Given the description of an element on the screen output the (x, y) to click on. 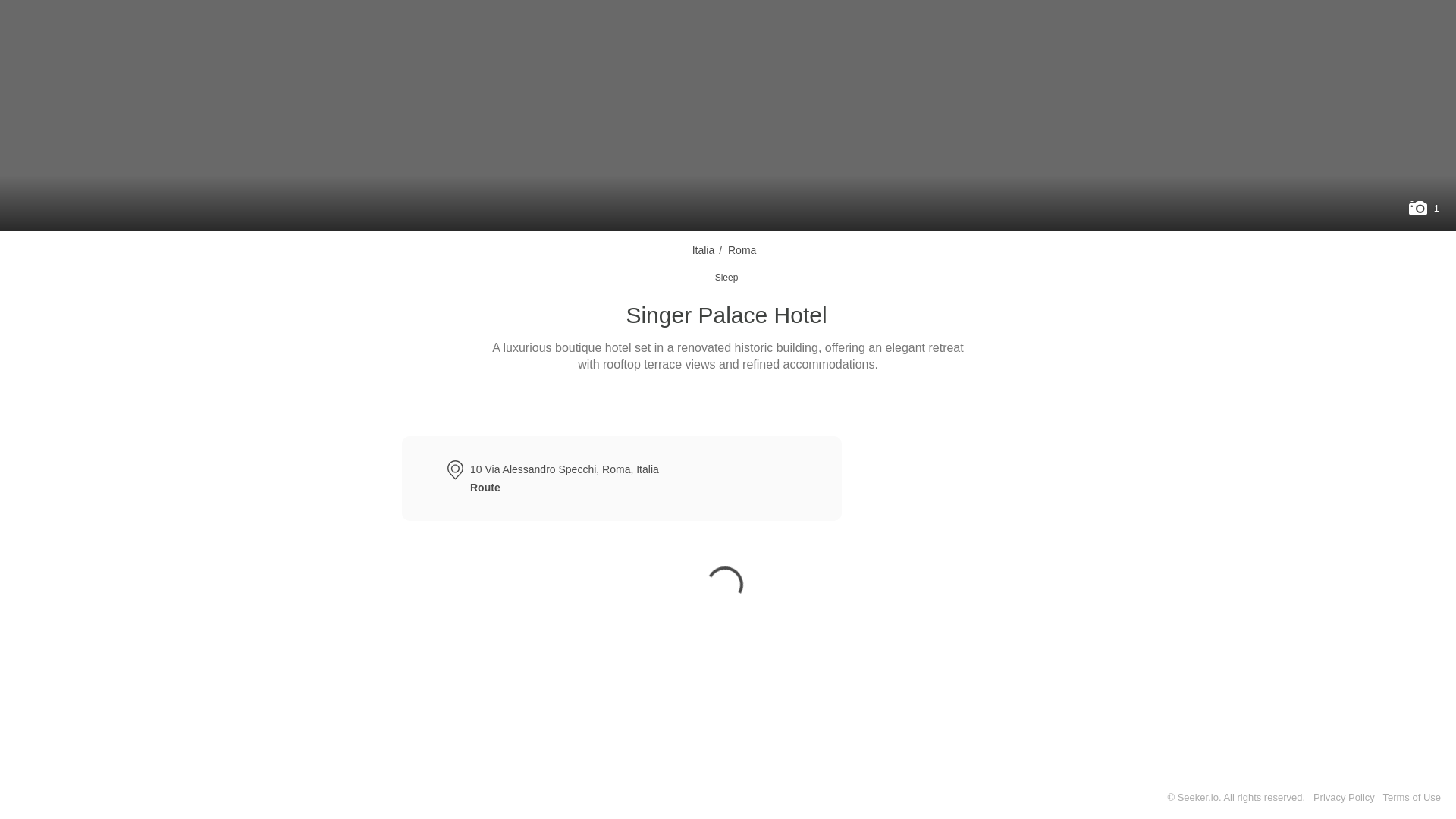
Route (652, 403)
1 (1423, 207)
Privacy Policy (1343, 797)
Route (485, 487)
Save (777, 403)
Terms of Use (1411, 797)
